Given the description of an element on the screen output the (x, y) to click on. 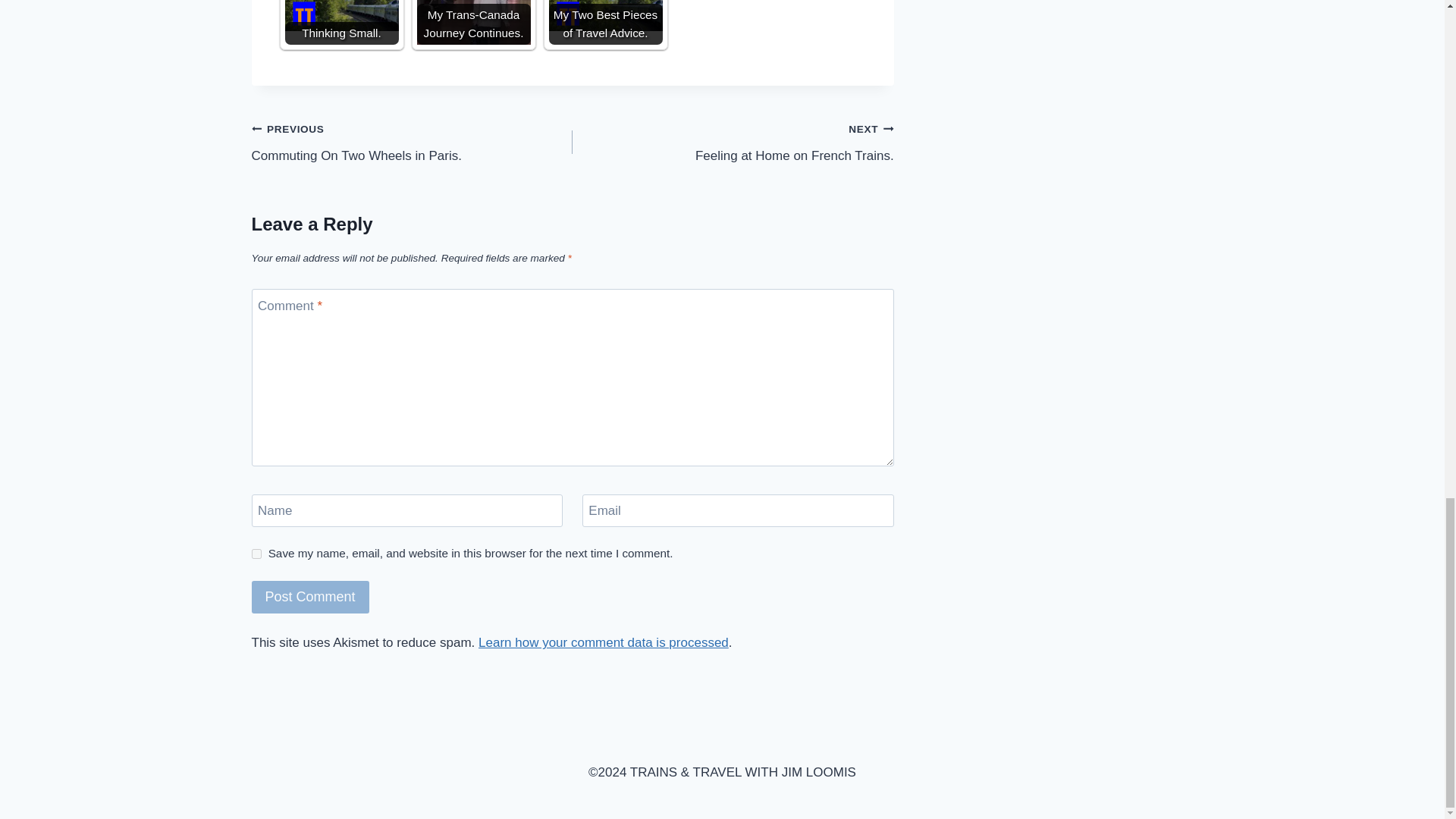
yes (256, 553)
My Trans-Canada Journey Continues. (473, 22)
Thinking Small. (341, 15)
Post Comment (310, 596)
My Two Best Pieces of Travel Advice. (605, 15)
